Given the description of an element on the screen output the (x, y) to click on. 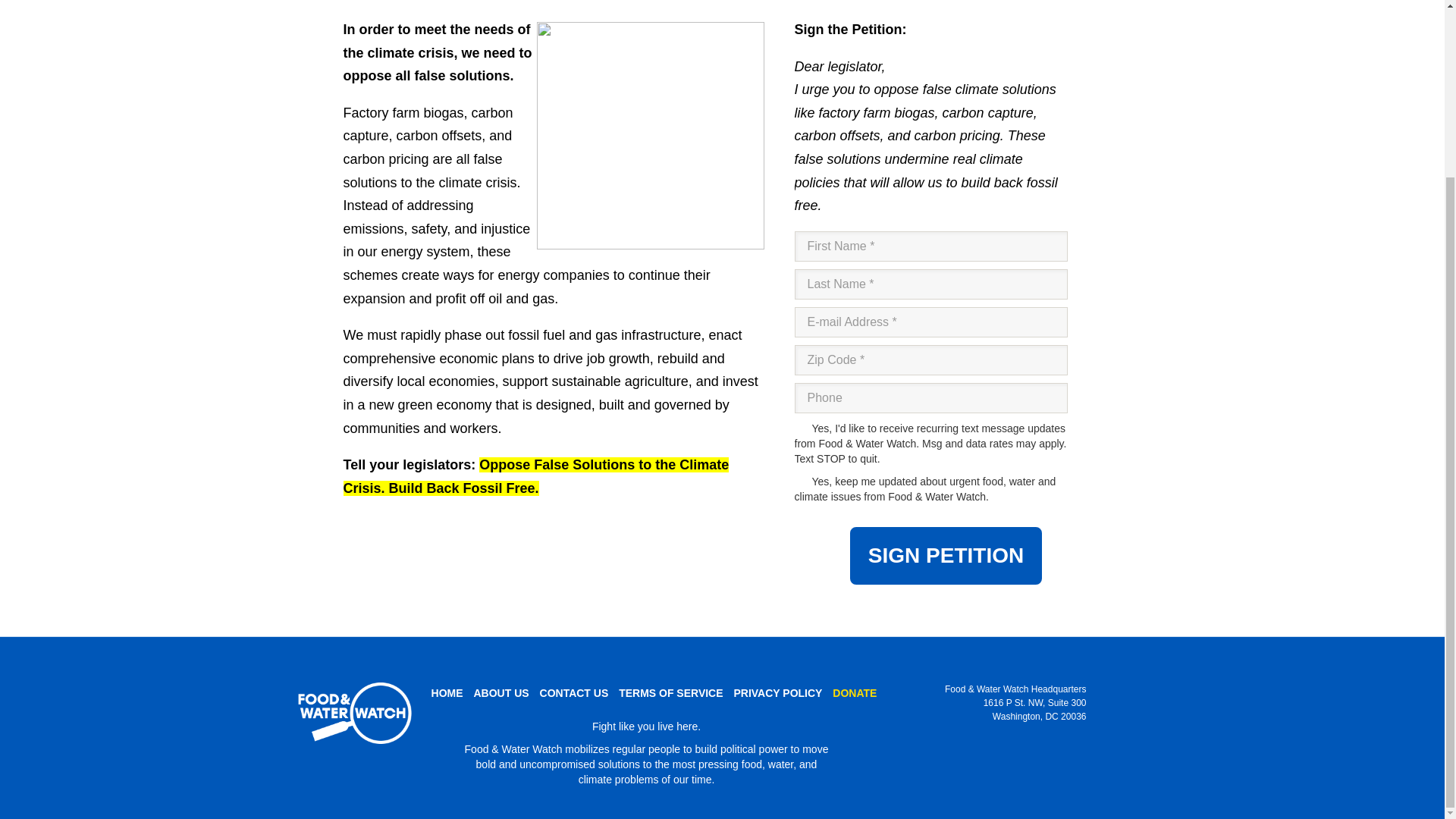
1 (801, 428)
HOME (447, 693)
TERMS OF SERVICE (670, 693)
Sign Petition (946, 555)
DONATE (854, 693)
1 (801, 480)
Sign Petition (946, 555)
ABOUT US (501, 693)
CONTACT US (573, 693)
PRIVACY POLICY (777, 693)
